Given the description of an element on the screen output the (x, y) to click on. 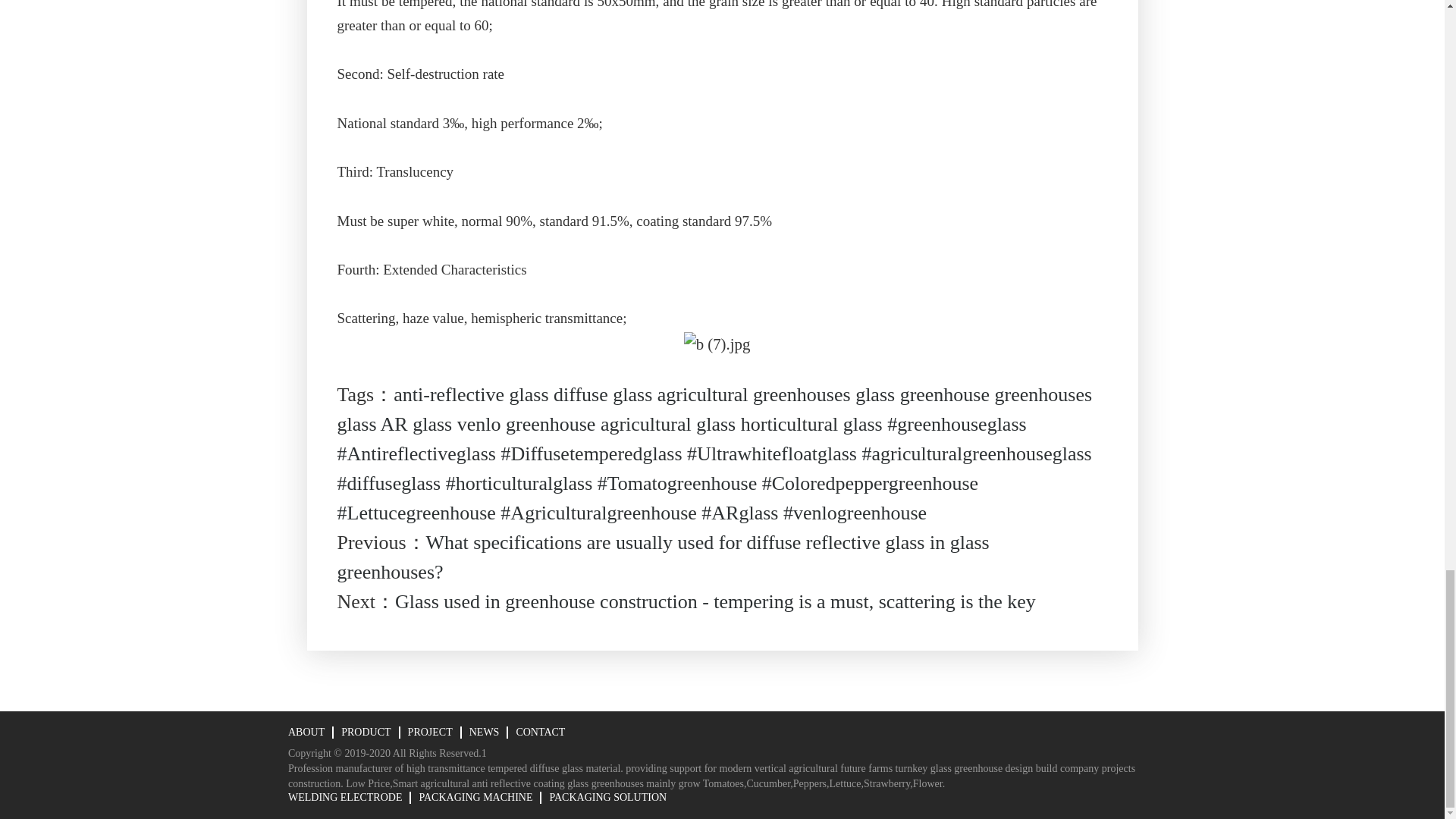
anti-reflective glass (470, 394)
Wanbon packaging machine (475, 797)
venlo greenhouse (526, 423)
greenhouses glass (714, 409)
glass greenhouse (923, 394)
agricultural glass (667, 423)
Welding electrode (344, 797)
Packaging solution (607, 797)
AR glass (416, 423)
1719215689193239.jpg (717, 343)
